Given the description of an element on the screen output the (x, y) to click on. 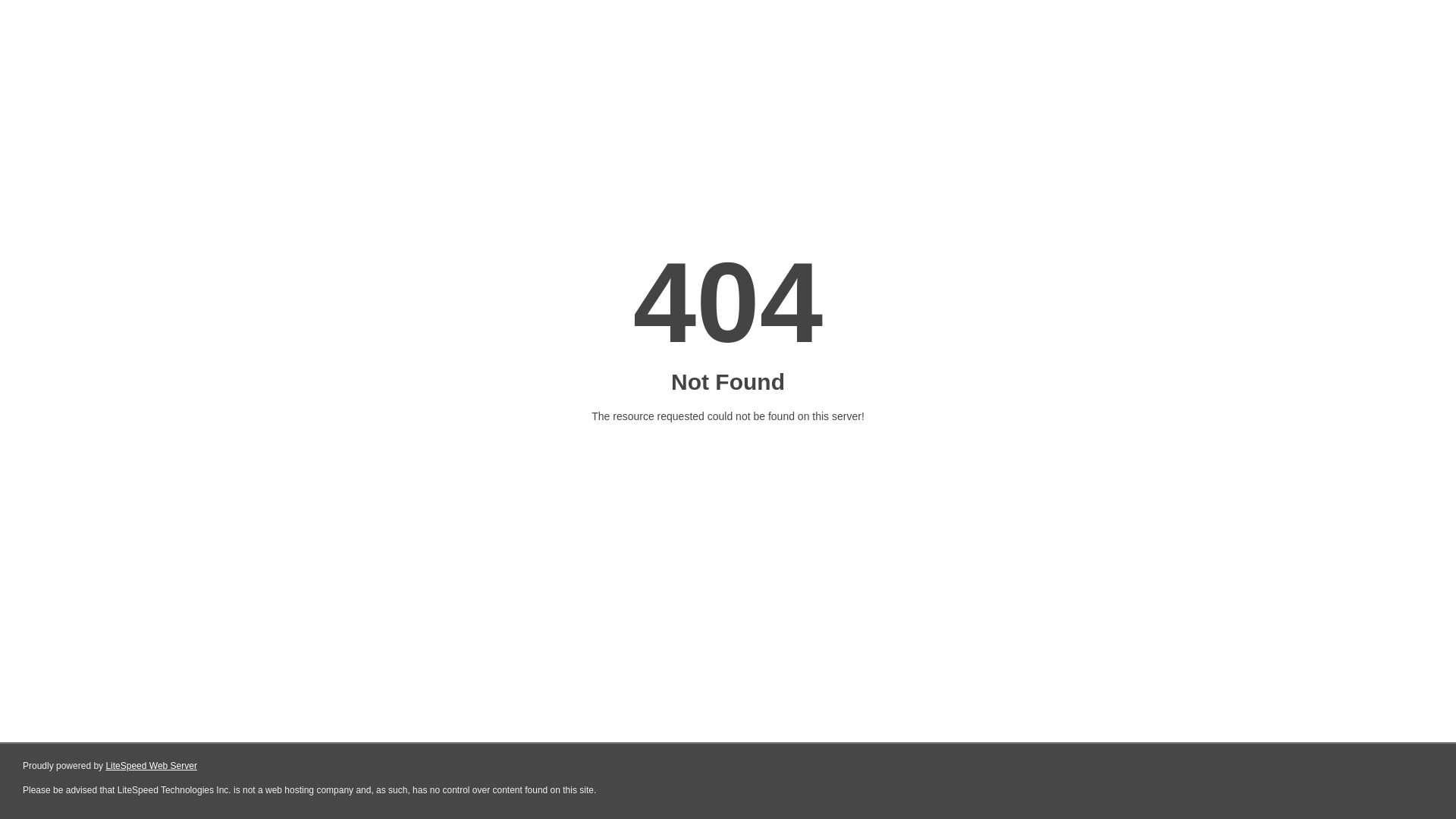
LiteSpeed Web Server Element type: text (151, 765)
